Given the description of an element on the screen output the (x, y) to click on. 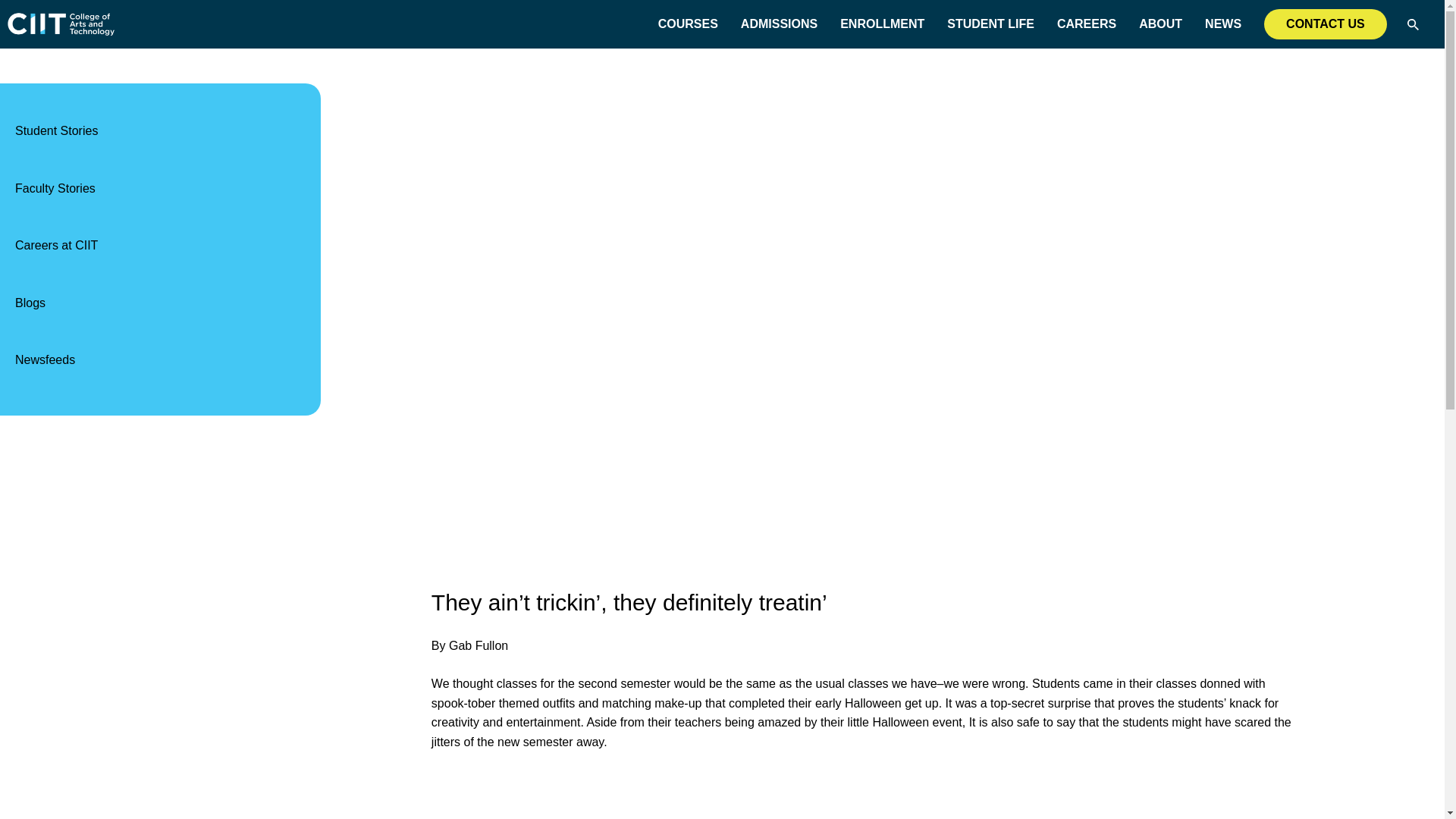
ENROLLMENT (882, 24)
CAREERS (1086, 24)
STUDENT LIFE (990, 24)
COURSES (687, 24)
CONTACT US (1325, 24)
ABOUT (1160, 24)
NEWS (1223, 24)
ADMISSIONS (778, 24)
